Given the description of an element on the screen output the (x, y) to click on. 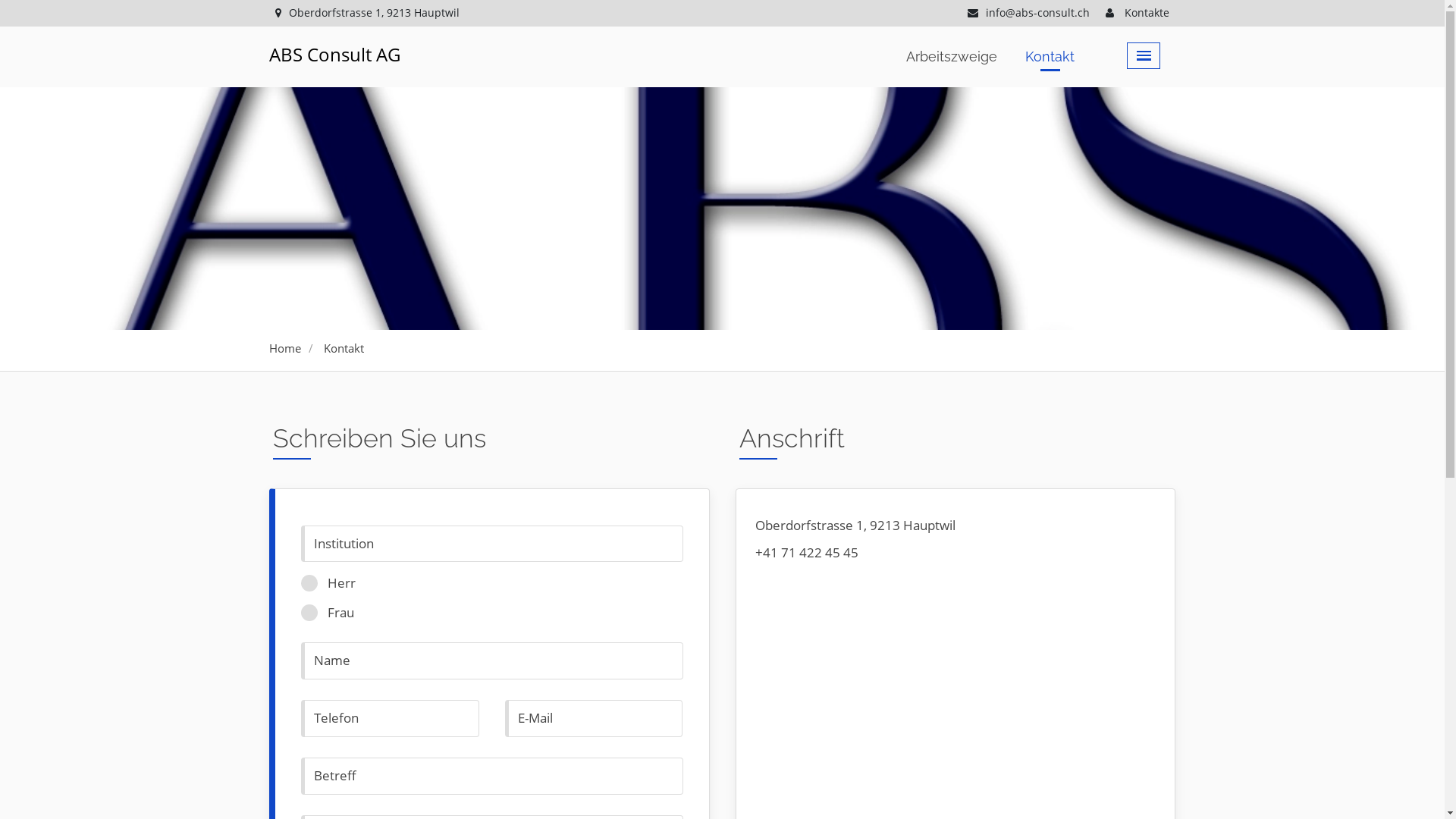
Home Element type: text (285, 347)
Kontakt Element type: text (343, 347)
Kontakt Element type: text (1049, 57)
Arbeitszweige Element type: text (951, 57)
info@abs-consult.ch Element type: text (1027, 12)
+41 71 422 45 45 Element type: text (806, 552)
Oberdorfstrasse 1, 9213 Hauptwil Element type: text (367, 12)
Kontakte Element type: text (1136, 12)
ABS Consult AG Element type: text (334, 54)
